Given the description of an element on the screen output the (x, y) to click on. 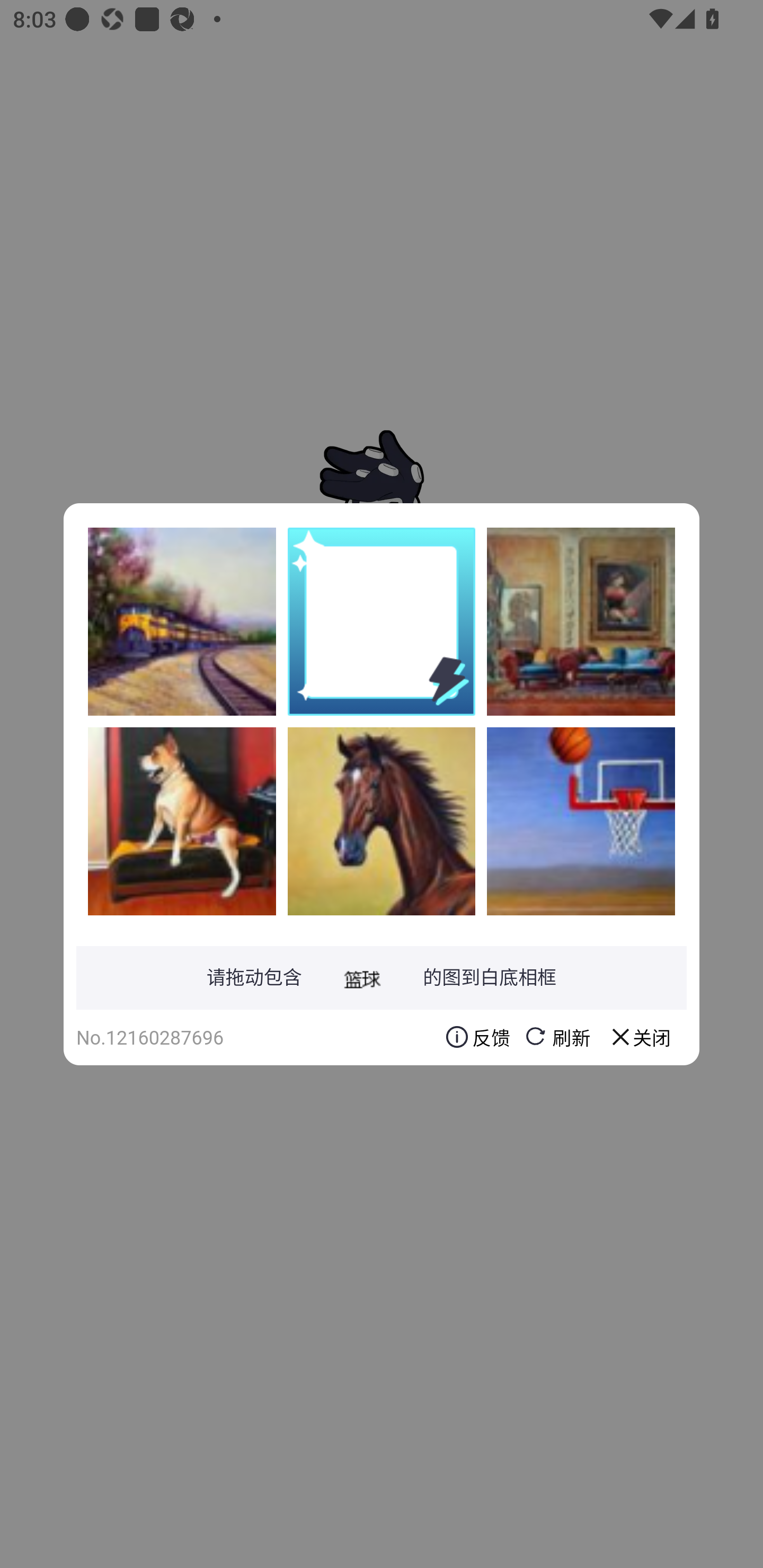
Kjw6 (181, 621)
I4Afr6D0xSk8eX (181, 820)
iqXOBKkJYGFjDVpwpNrGFhZE (381, 820)
